Given the description of an element on the screen output the (x, y) to click on. 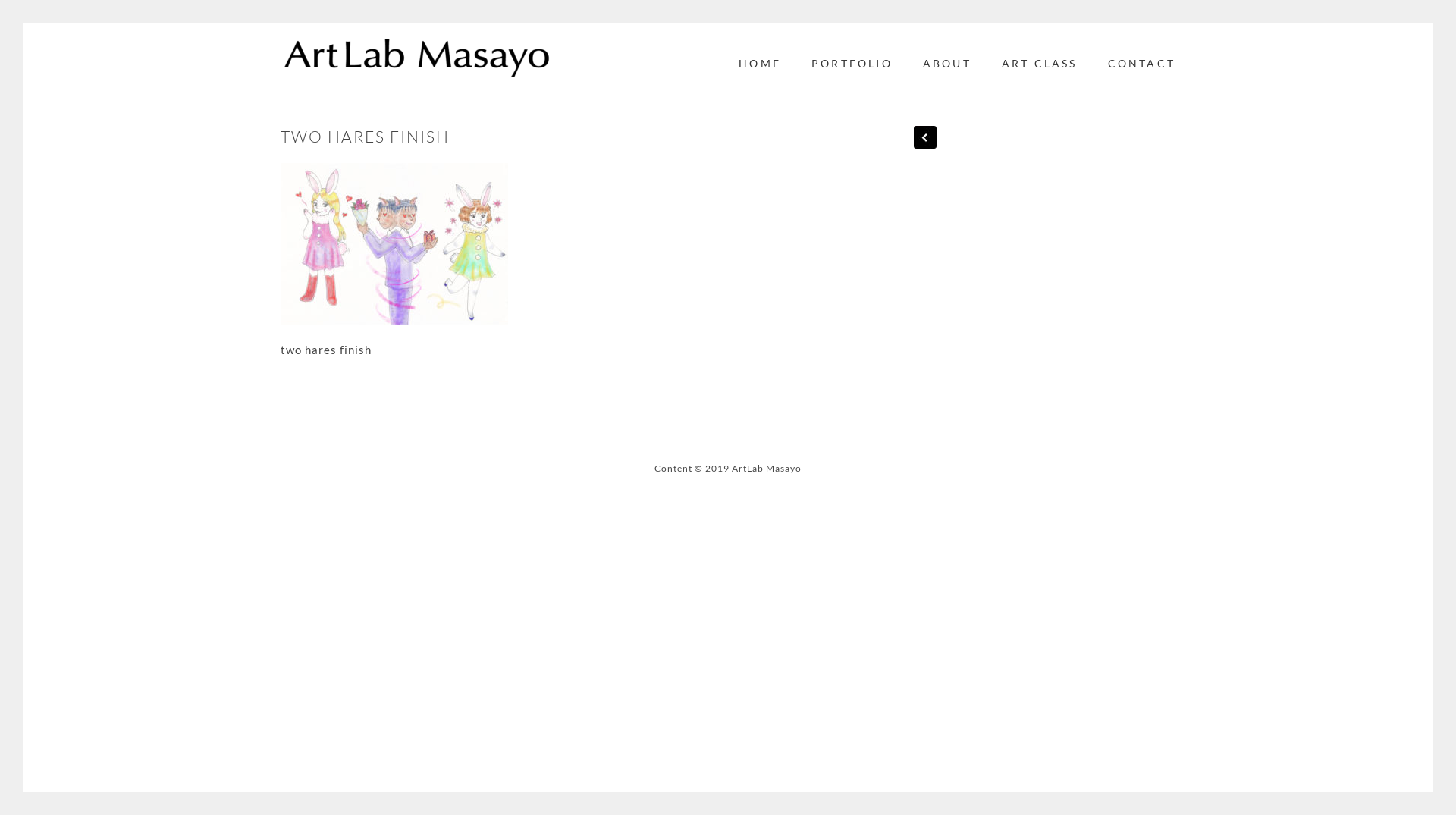
ABOUT Element type: text (946, 70)
CONTACT Element type: text (1141, 70)
HOME Element type: text (759, 70)
ART CLASS Element type: text (1039, 70)
PORTFOLIO Element type: text (851, 70)
